Given the description of an element on the screen output the (x, y) to click on. 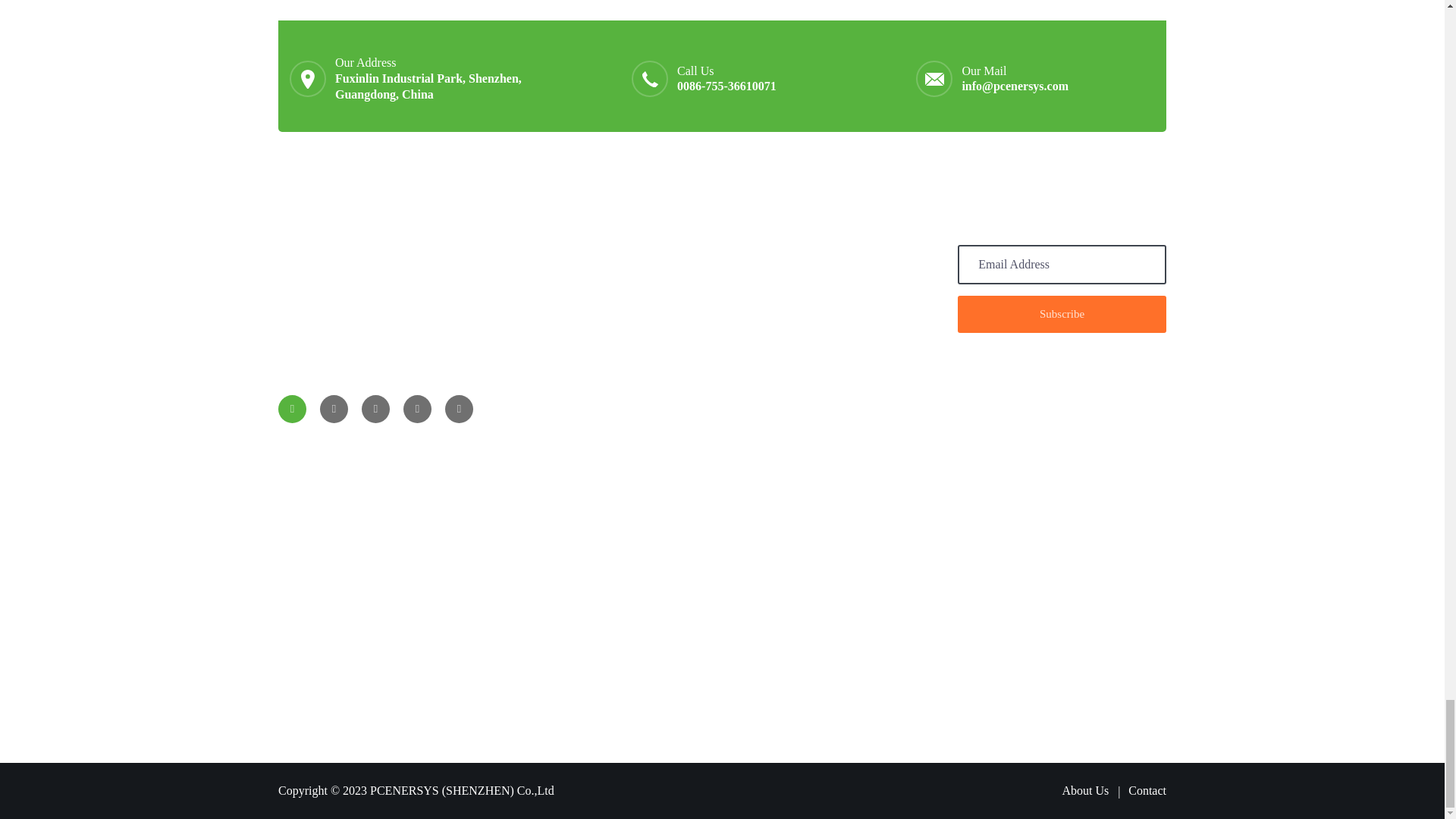
Subscribe (1062, 313)
